Given the description of an element on the screen output the (x, y) to click on. 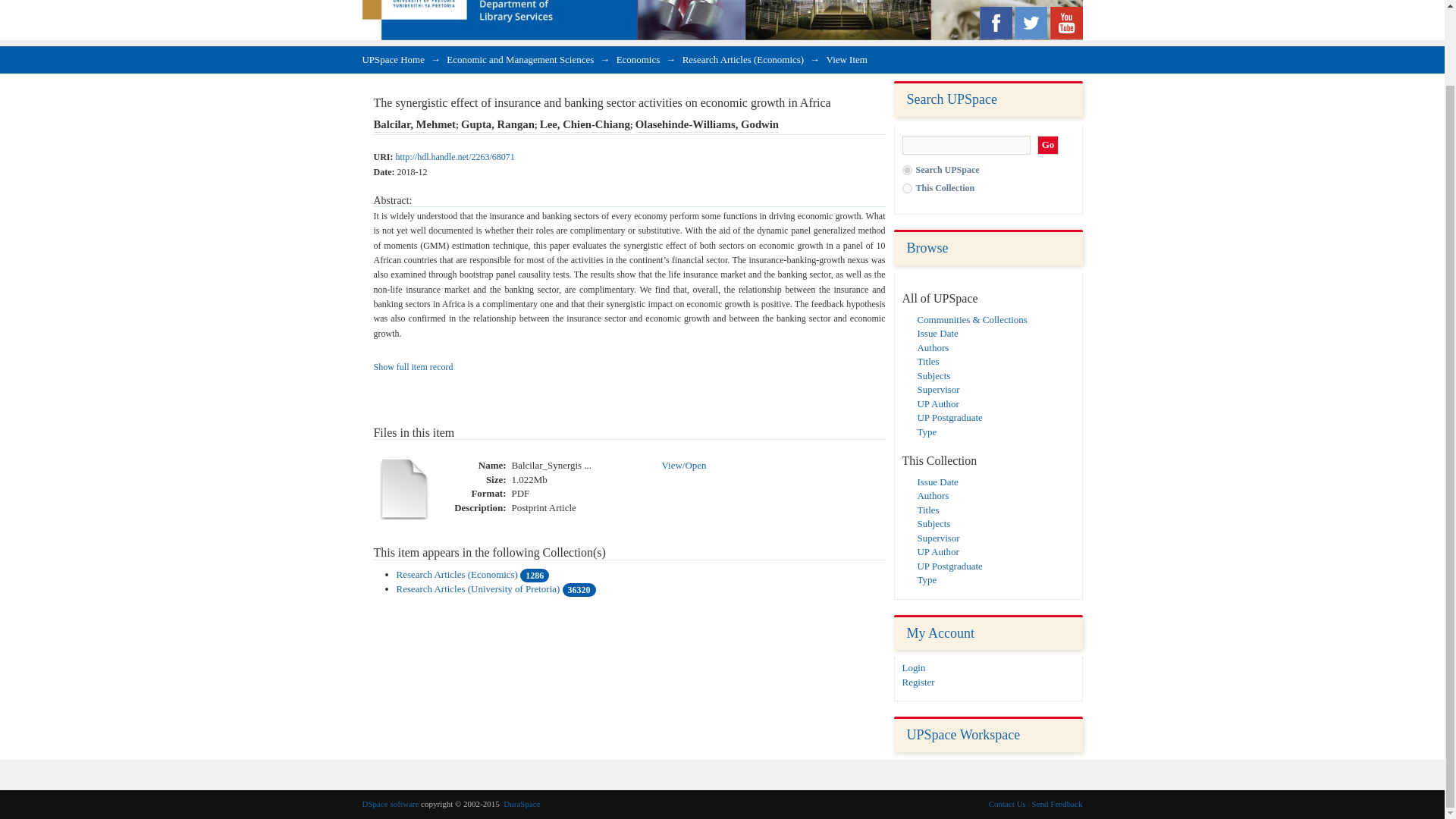
Send Feedback (1057, 803)
Authors (933, 347)
Titles (928, 509)
Economics (638, 59)
UP Postgraduate (949, 565)
Subjects (933, 374)
Issue Date (937, 481)
UPSpace Workspace (963, 734)
Show full item record (412, 366)
Type (927, 430)
